Given the description of an element on the screen output the (x, y) to click on. 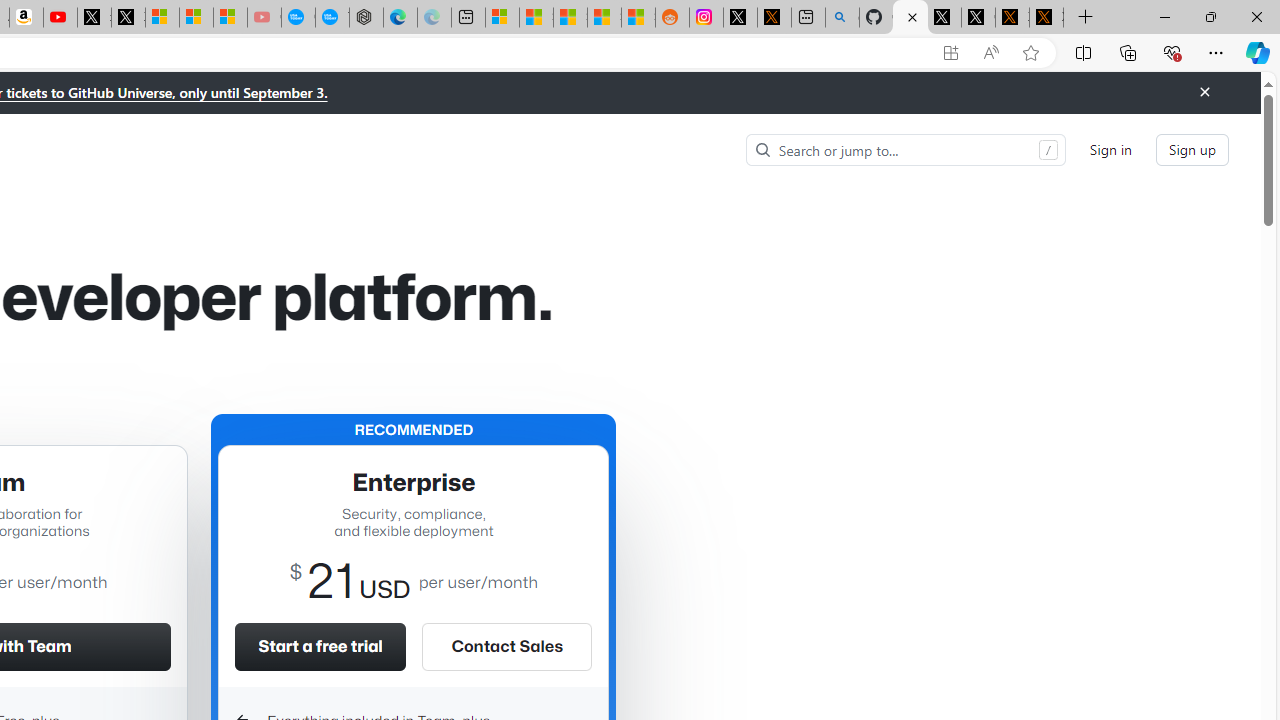
The most popular Google 'how to' searches (332, 17)
Day 1: Arriving in Yemen (surreal to be here) - YouTube (59, 17)
Profile / X (944, 17)
Sign in (1110, 149)
github - Search (841, 17)
Shanghai, China weather forecast | Microsoft Weather (535, 17)
GitHub (@github) / X (978, 17)
Contact Sales (506, 646)
